Given the description of an element on the screen output the (x, y) to click on. 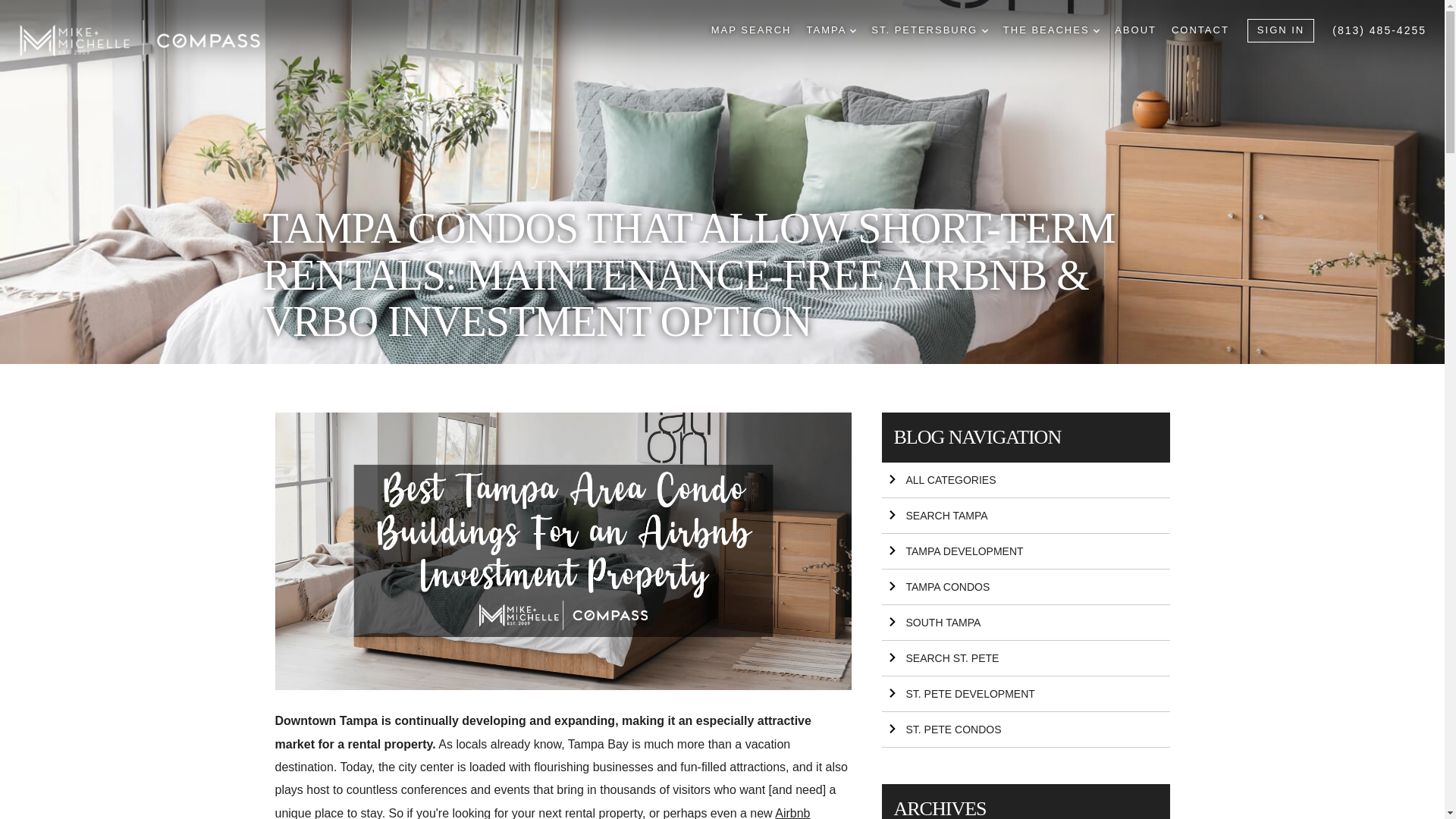
ABOUT (1135, 30)
MAP SEARCH (751, 30)
THE BEACHES DROPDOWN ARROW (1051, 30)
DROPDOWN ARROW (984, 30)
DROPDOWN ARROW (1096, 30)
DROPDOWN ARROW (853, 30)
TAMPA DROPDOWN ARROW (831, 30)
ST. PETERSBURG DROPDOWN ARROW (929, 30)
CONTACT (1200, 30)
